Given the description of an element on the screen output the (x, y) to click on. 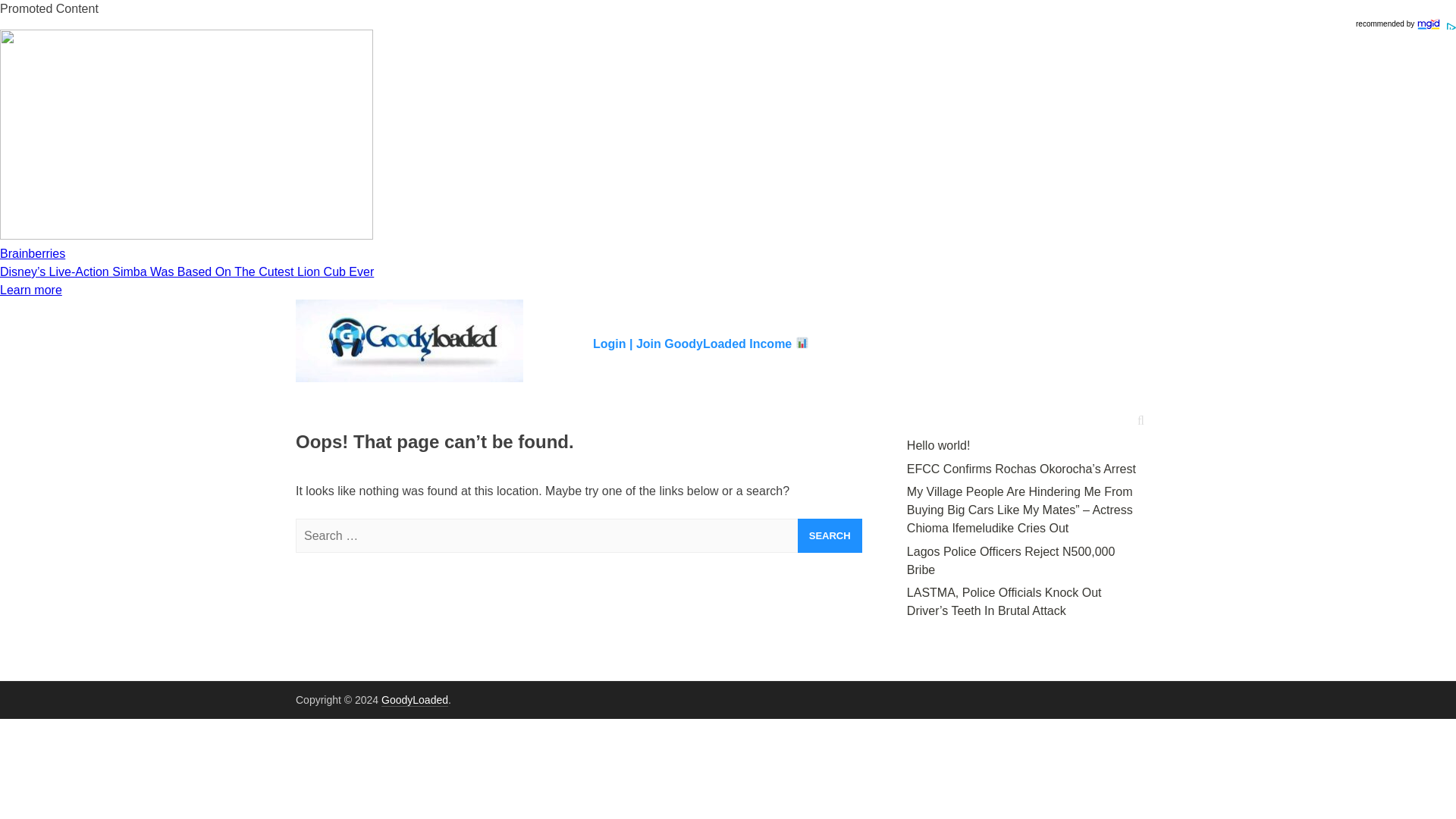
Hello world! (939, 445)
GoodyLoaded (414, 699)
Search (829, 535)
GoodyLoaded (414, 699)
Lagos Police Officers Reject N500,000 Bribe (1011, 560)
Search (829, 535)
Search (829, 535)
Join GoodyLoaded Income (722, 342)
